Given the description of an element on the screen output the (x, y) to click on. 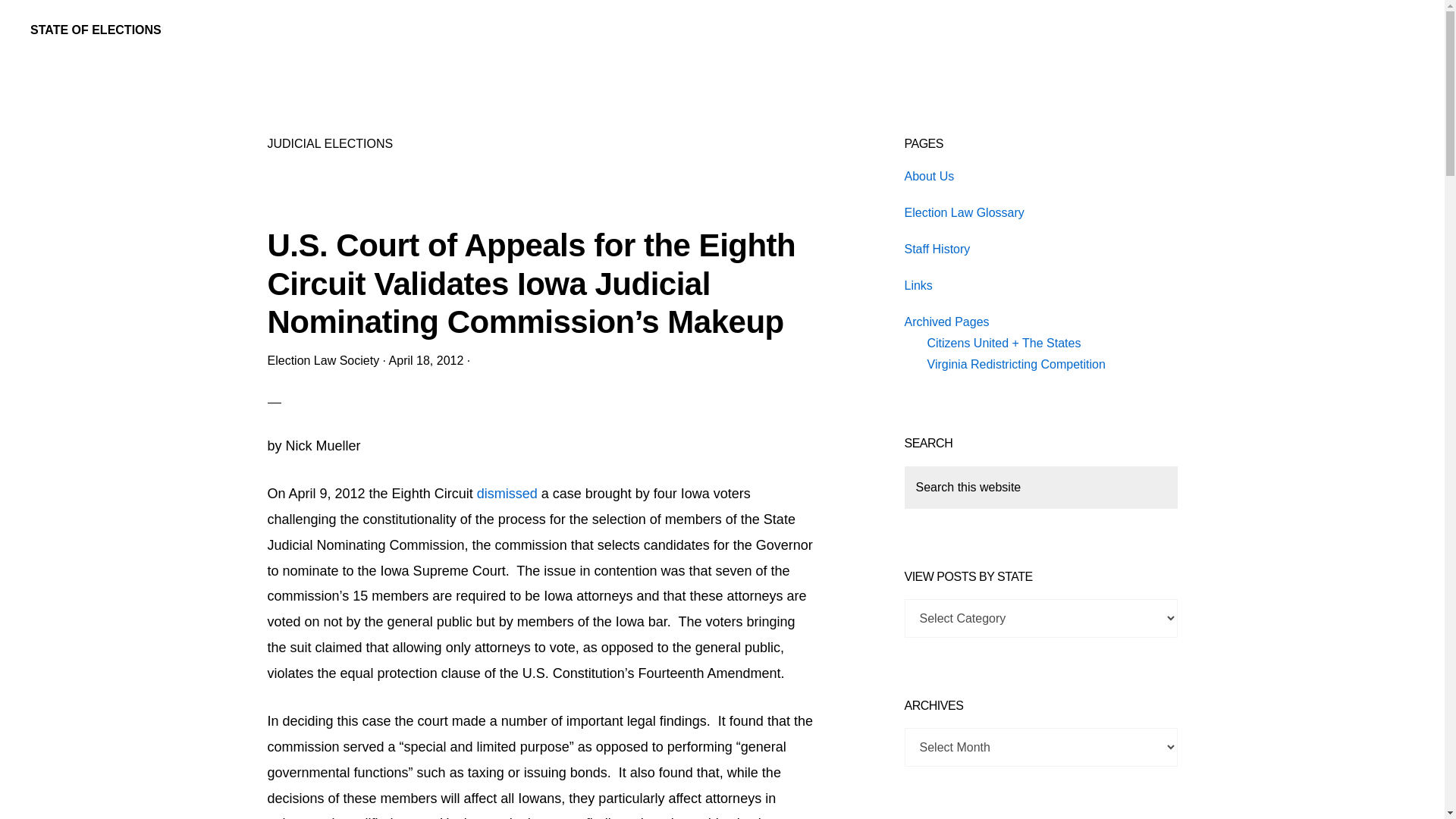
dismissed (507, 493)
STATE OF ELECTIONS (95, 29)
Election Law Society (322, 359)
